Given the description of an element on the screen output the (x, y) to click on. 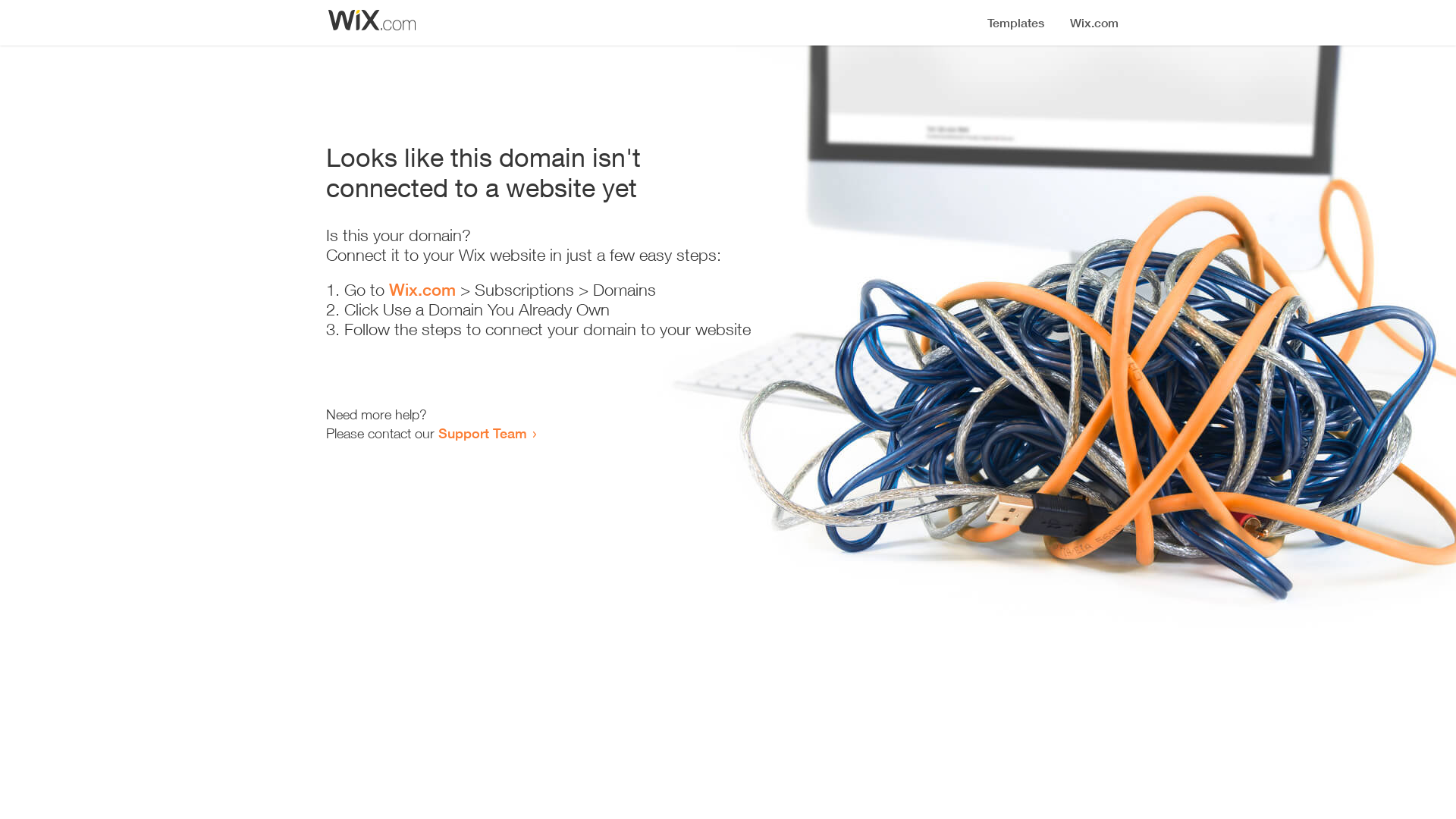
Support Team Element type: text (482, 432)
Wix.com Element type: text (422, 289)
